Given the description of an element on the screen output the (x, y) to click on. 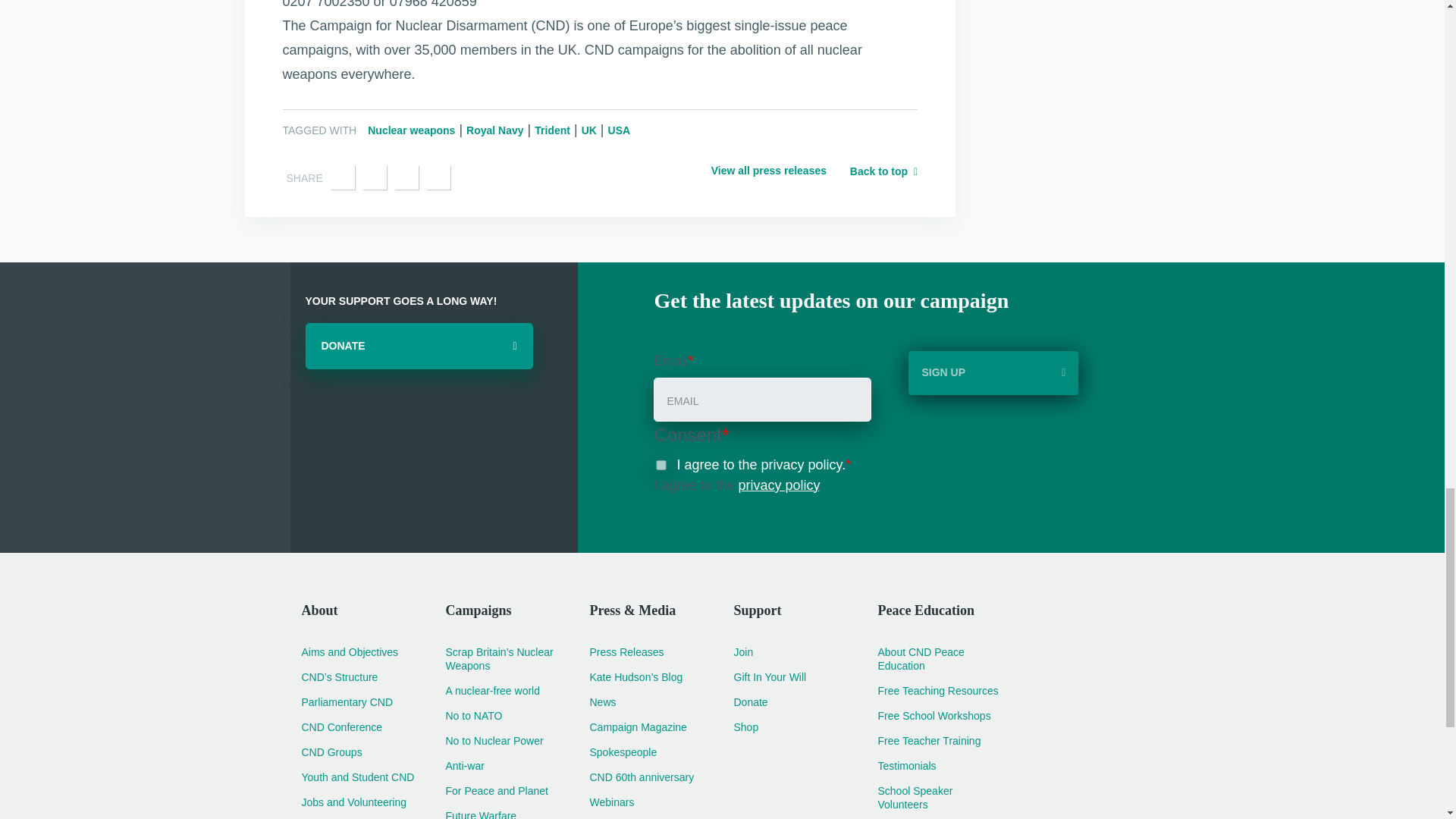
Share on Twitter (374, 177)
Share on Facebook (342, 177)
Royal Navy (493, 130)
Nuclear weapons (411, 130)
UK (588, 130)
Trident (552, 130)
USA (619, 130)
Share on Linkedin (406, 177)
1 (660, 465)
